Given the description of an element on the screen output the (x, y) to click on. 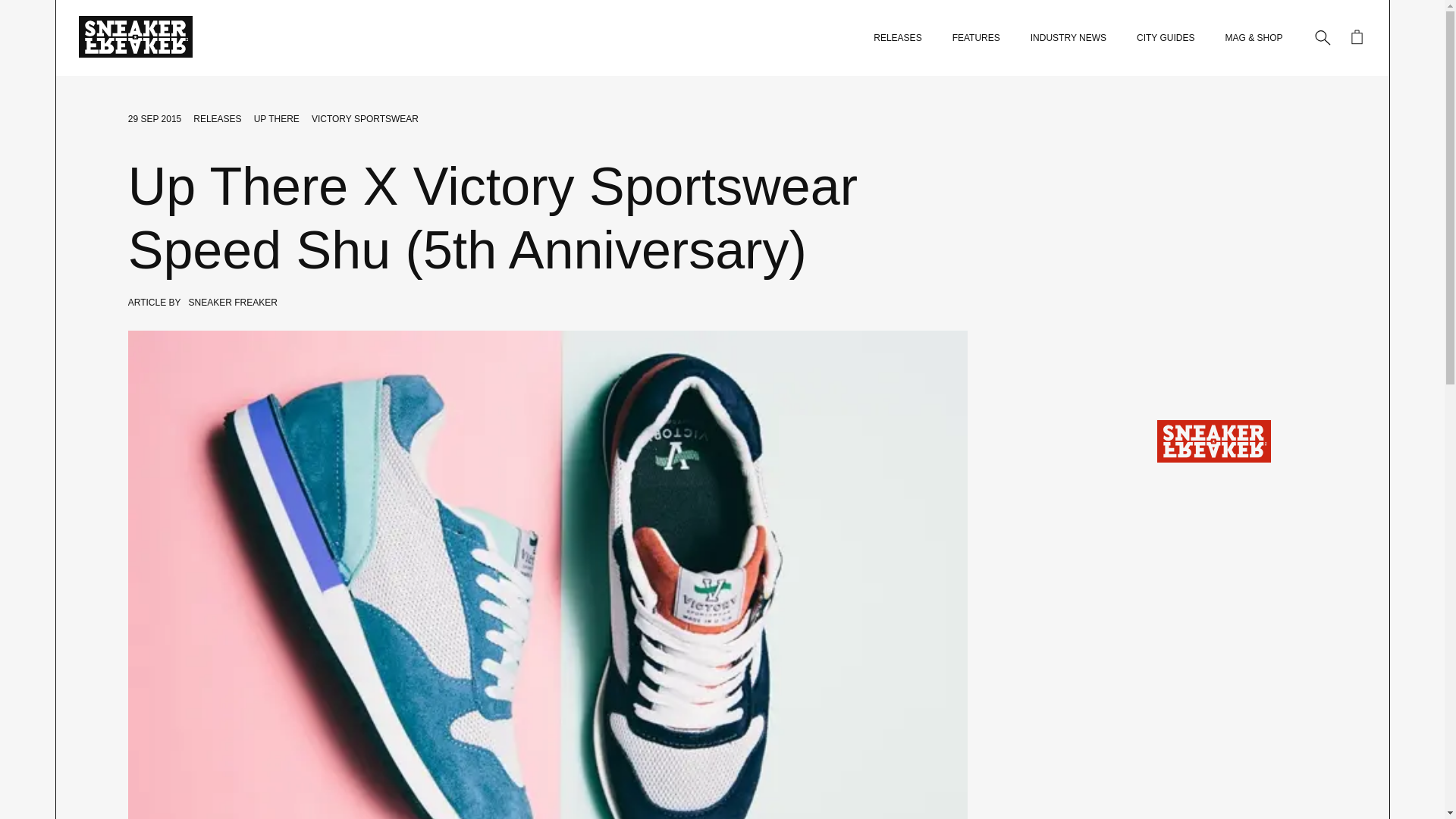
CITY GUIDES (1165, 37)
INDUSTRY NEWS (1068, 37)
VICTORY SPORTSWEAR (365, 118)
UP THERE (276, 118)
FEATURES (976, 37)
RELEASES (217, 118)
RELEASES (897, 37)
